Given the description of an element on the screen output the (x, y) to click on. 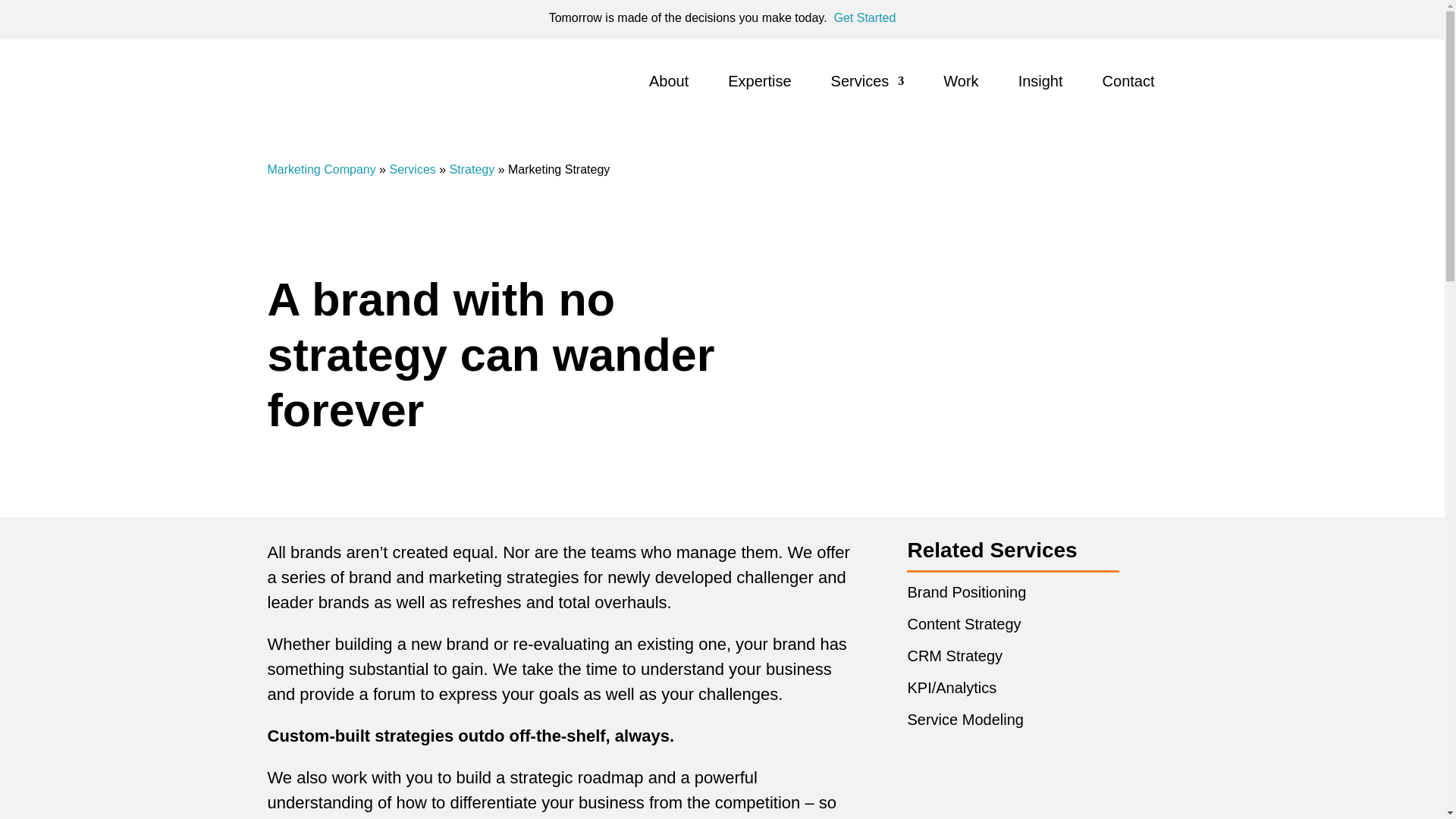
Brand Positioning (966, 591)
Service Modeling (965, 719)
Work (960, 84)
CRM Strategy (955, 655)
Insight (1039, 84)
Services (867, 84)
Content Strategy (963, 623)
Marketing Company (320, 169)
Strategy (472, 169)
Contact (1128, 84)
